Given the description of an element on the screen output the (x, y) to click on. 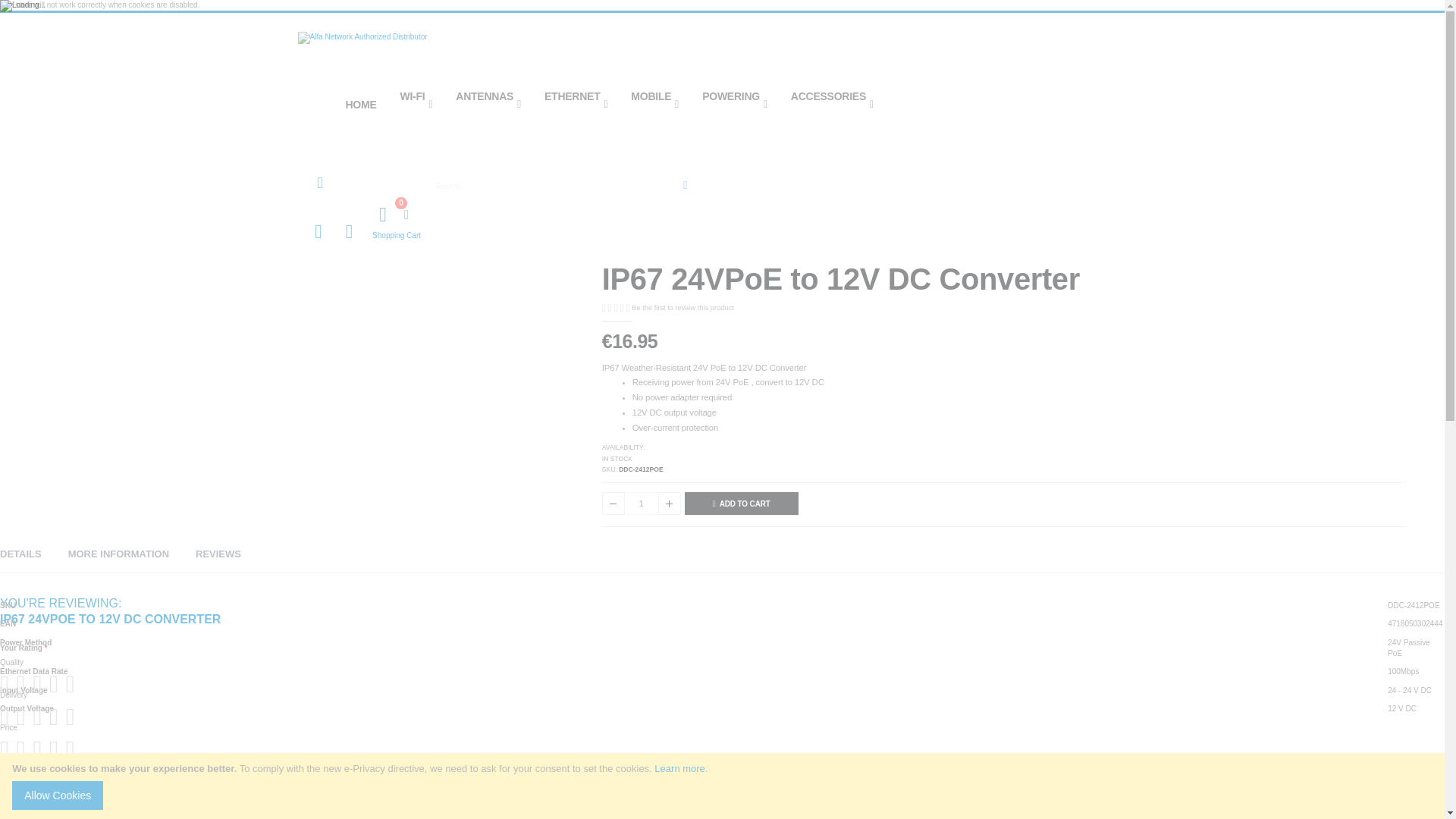
ETHERNET (575, 103)
Alfa Network Authorized Distributor (722, 53)
MOBILE (655, 103)
Learn more (678, 767)
Antennas (488, 103)
ANTENNAS (488, 103)
Ethernet (575, 103)
POWERING (734, 103)
WI-FI (416, 103)
Allow Cookies (57, 795)
ACCESSORIES (831, 103)
